Given the description of an element on the screen output the (x, y) to click on. 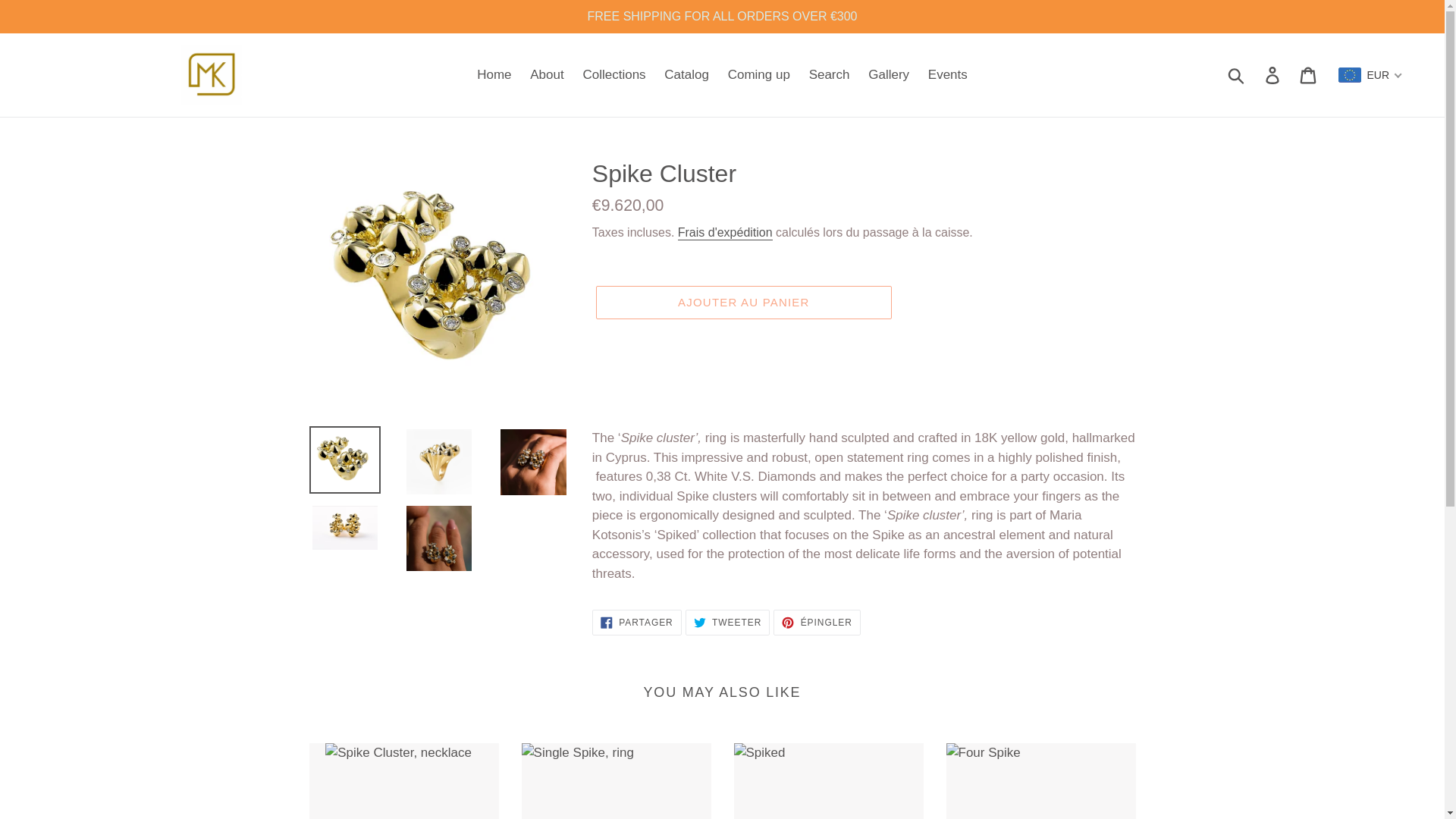
About (546, 74)
Search (829, 74)
Soumettre (1236, 74)
Catalog (686, 74)
Events (947, 74)
Collections (613, 74)
Coming up (758, 74)
Se connecter (1273, 74)
Home (493, 74)
Panier (1308, 74)
